Given the description of an element on the screen output the (x, y) to click on. 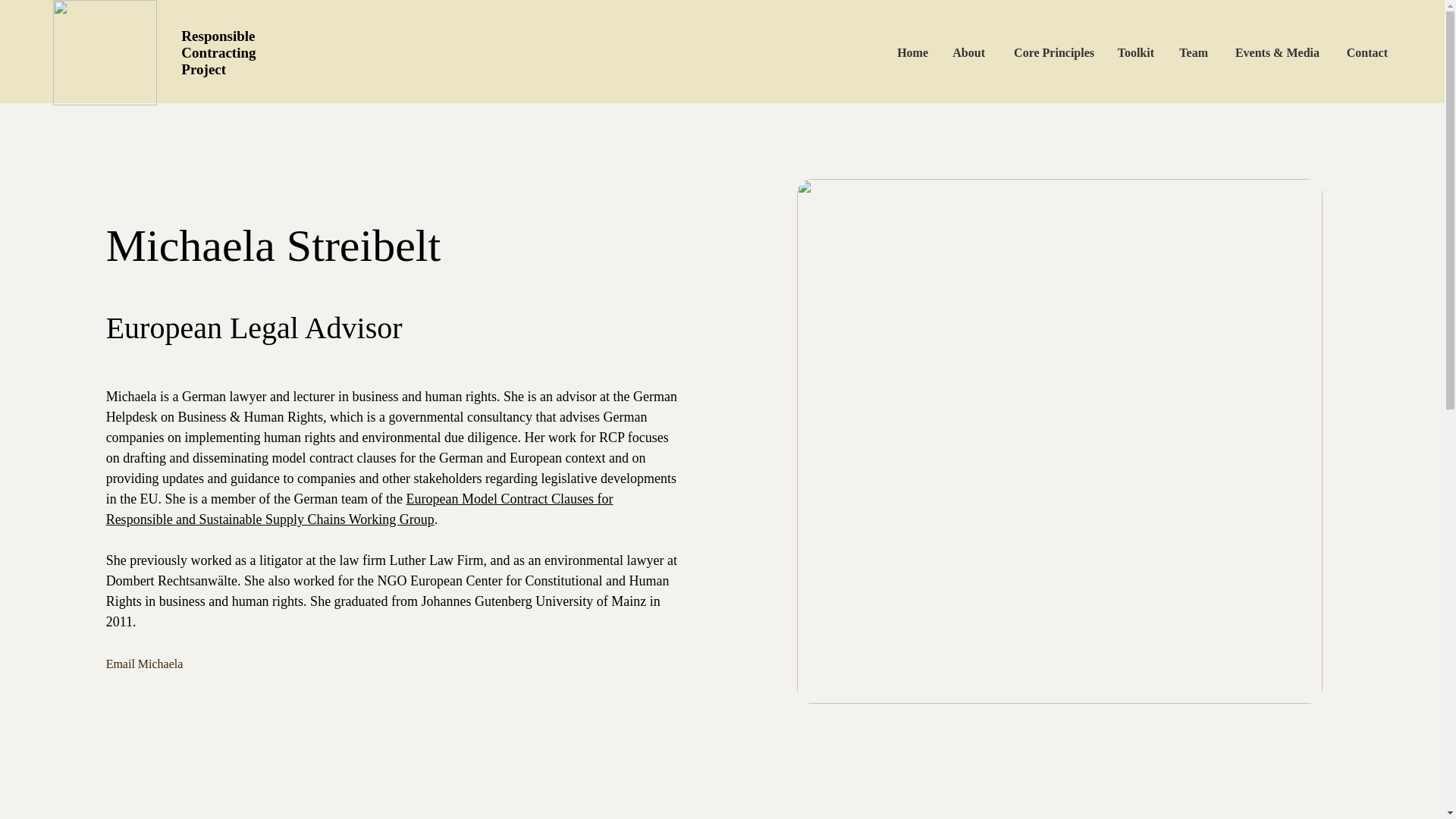
Team (1193, 52)
Home (911, 52)
Core Principles (1050, 52)
About (967, 52)
Toolkit (1135, 52)
Contact (1364, 52)
Email Michaela (172, 664)
